Given the description of an element on the screen output the (x, y) to click on. 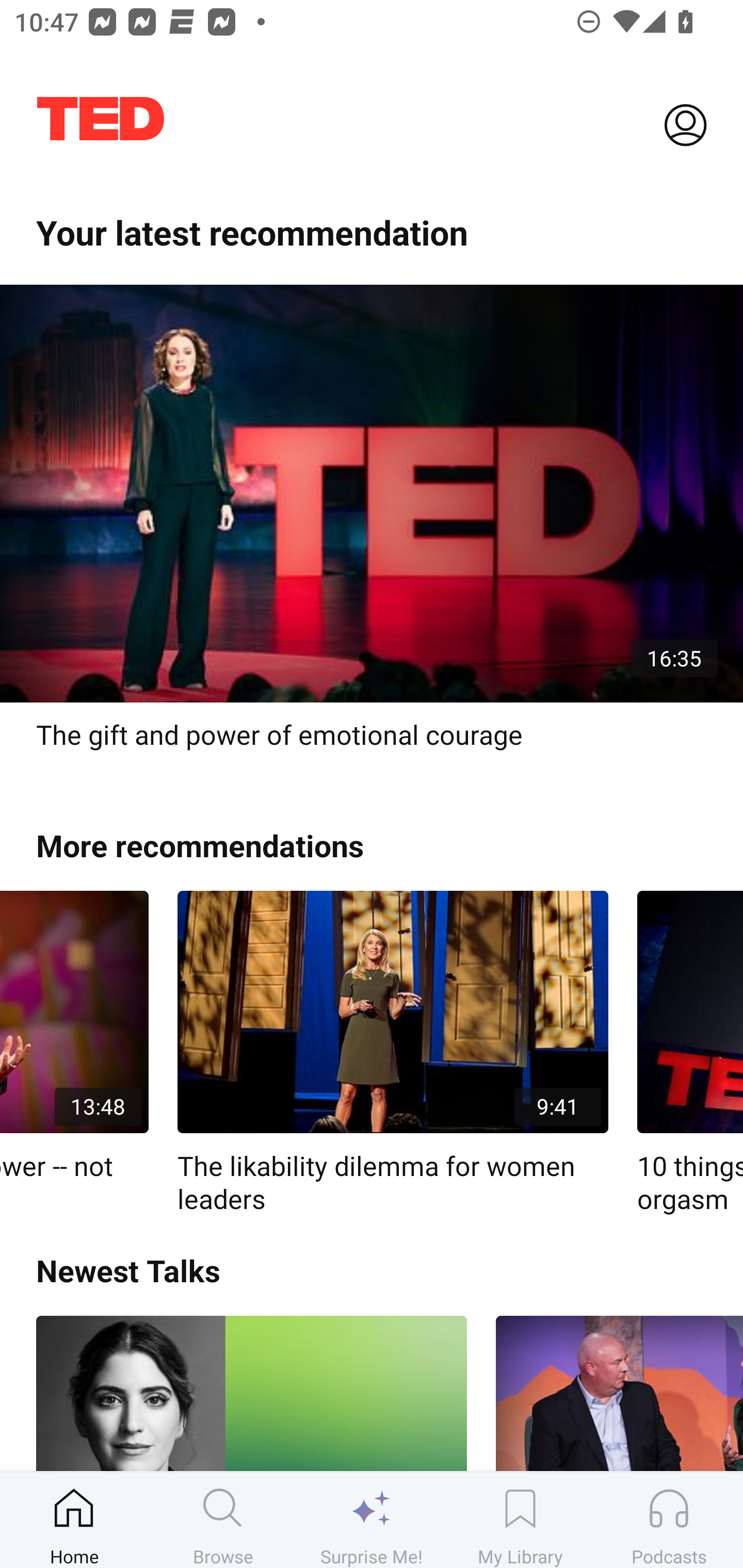
9:41 The likability dilemma for women leaders (392, 1053)
Home (74, 1520)
Browse (222, 1520)
Surprise Me! (371, 1520)
My Library (519, 1520)
Podcasts (668, 1520)
